Given the description of an element on the screen output the (x, y) to click on. 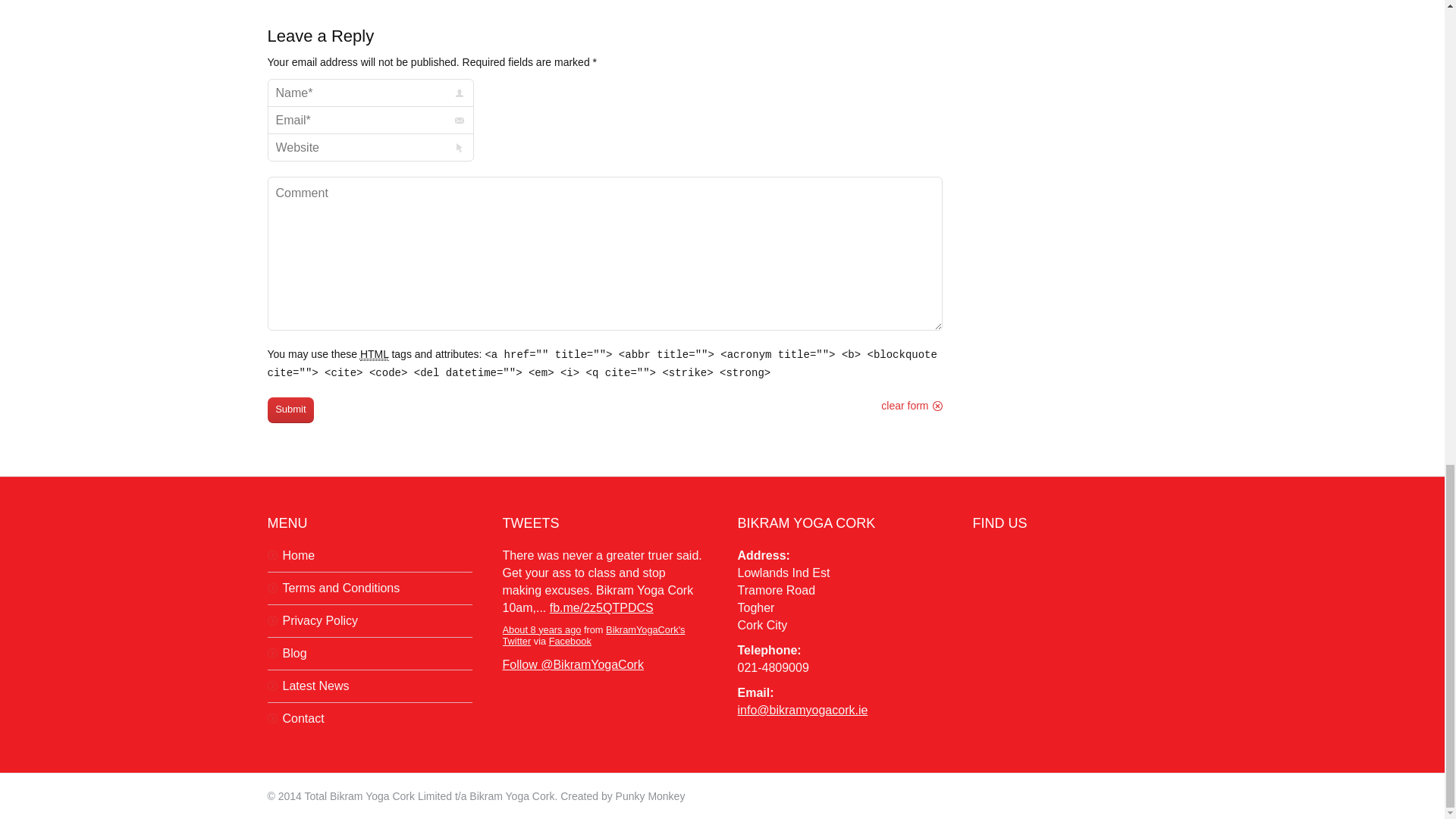
BikramYogaCork (593, 635)
HyperText Markup Language (373, 354)
